Given the description of an element on the screen output the (x, y) to click on. 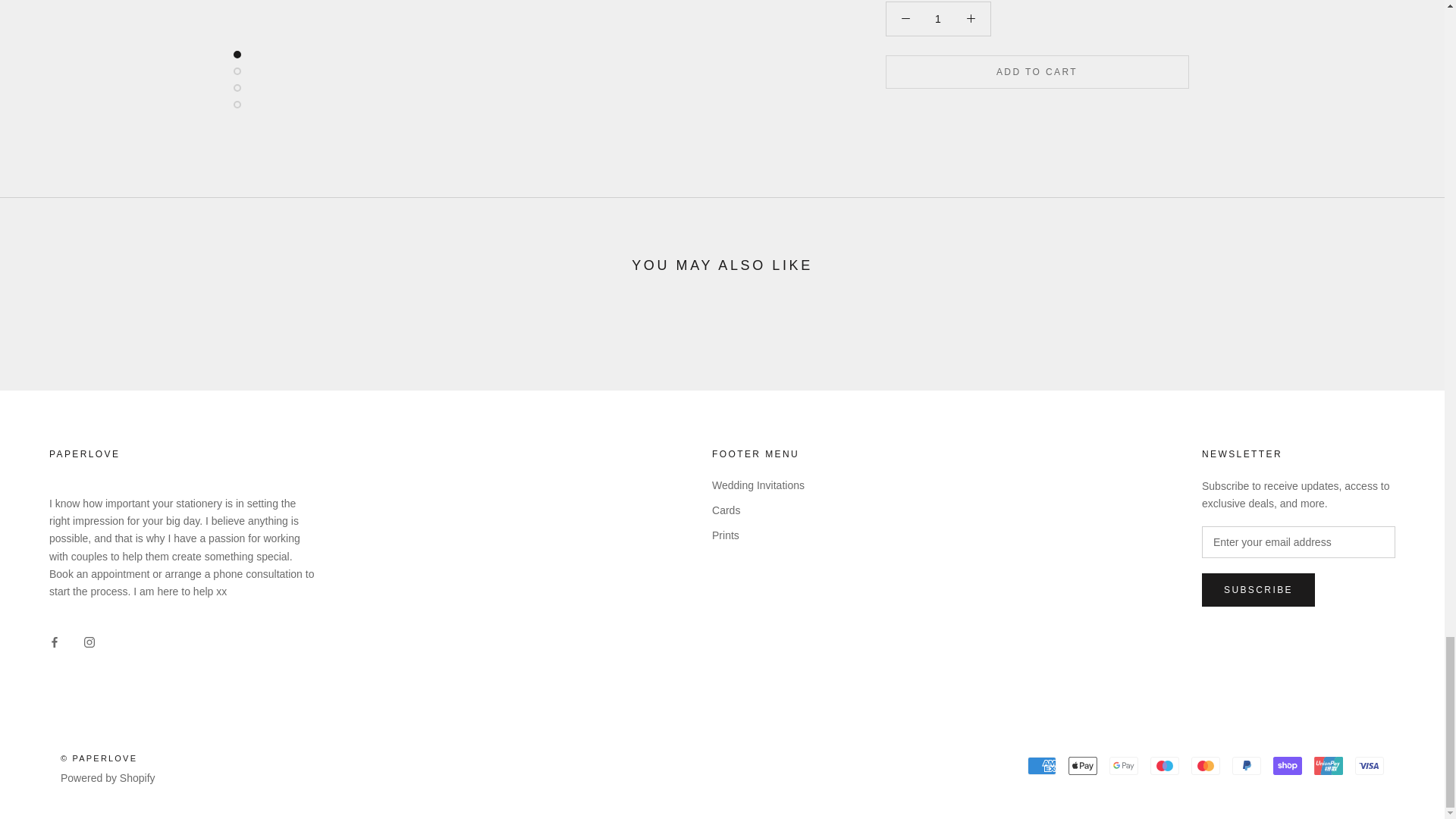
Visa (1369, 765)
Mastercard (1205, 765)
American Express (1042, 765)
Union Pay (1328, 765)
Apple Pay (1082, 765)
Maestro (1164, 765)
Google Pay (1123, 765)
Shop Pay (1286, 765)
PayPal (1245, 765)
